Given the description of an element on the screen output the (x, y) to click on. 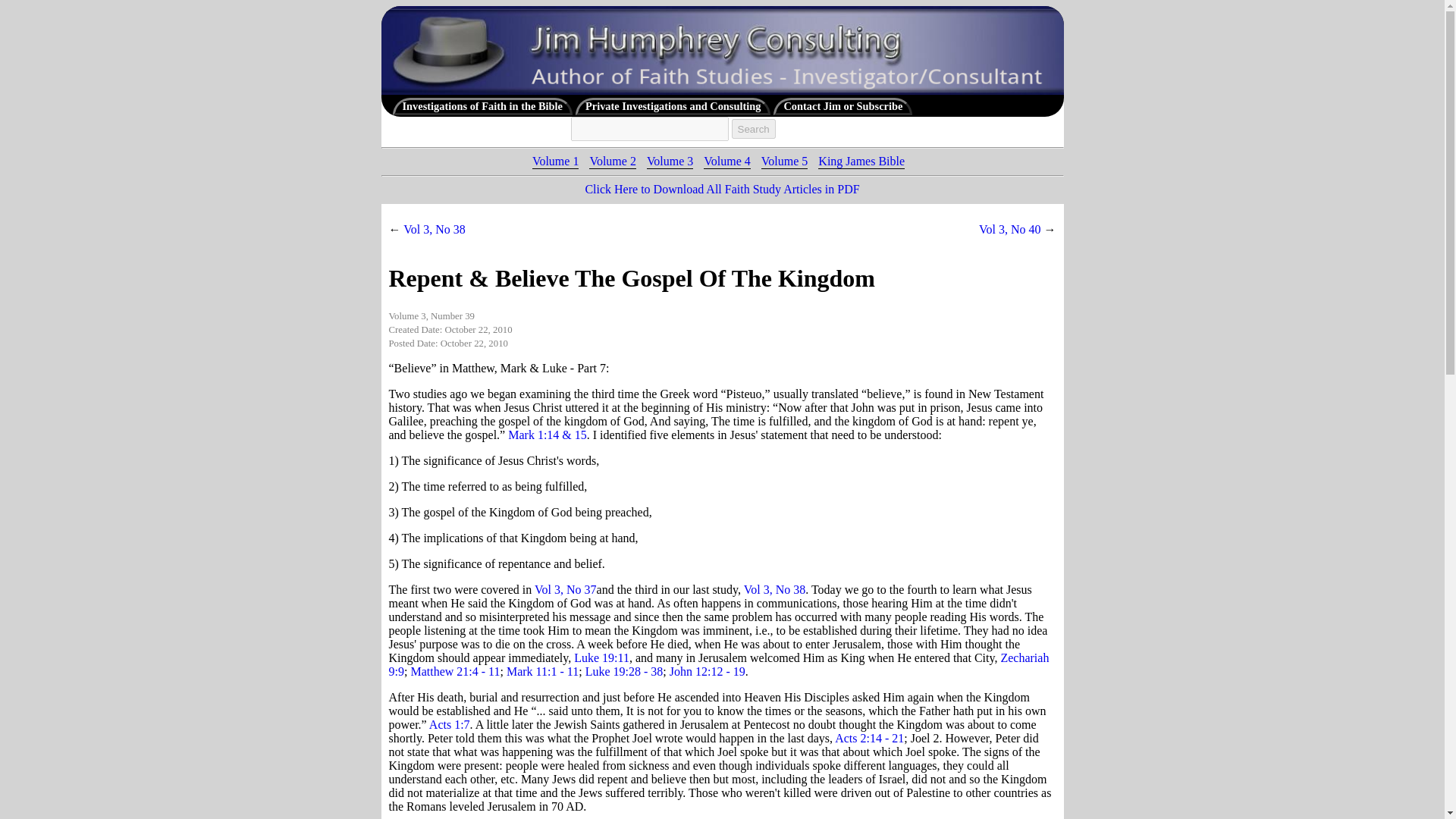
Search (752, 128)
Private Investigations and Consulting (672, 106)
Volume 1 (555, 160)
Search (752, 128)
Contact Jim or Subscribe (842, 106)
Volume 2 (611, 160)
Investigations of Faith in the Bible (481, 106)
